Given the description of an element on the screen output the (x, y) to click on. 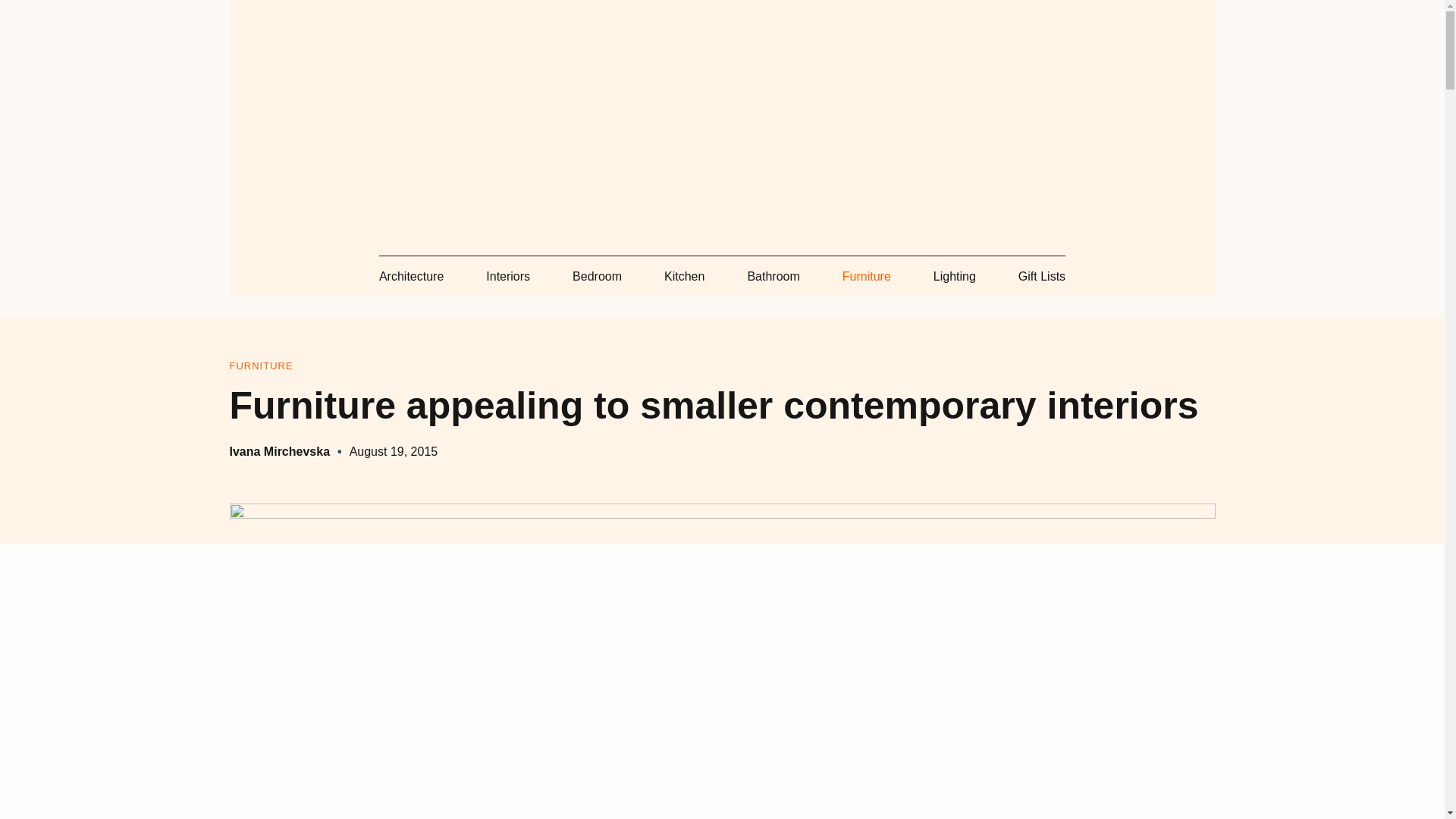
Interiors (507, 276)
Architecture (411, 276)
Bathroom (772, 276)
Kitchen (683, 276)
Bedroom (596, 276)
FURNITURE (260, 366)
August 19, 2015 (393, 451)
Gift Lists (1041, 276)
Furniture (260, 366)
Furniture (867, 276)
Lighting (954, 276)
Ivana Mirchevska (279, 451)
